Given the description of an element on the screen output the (x, y) to click on. 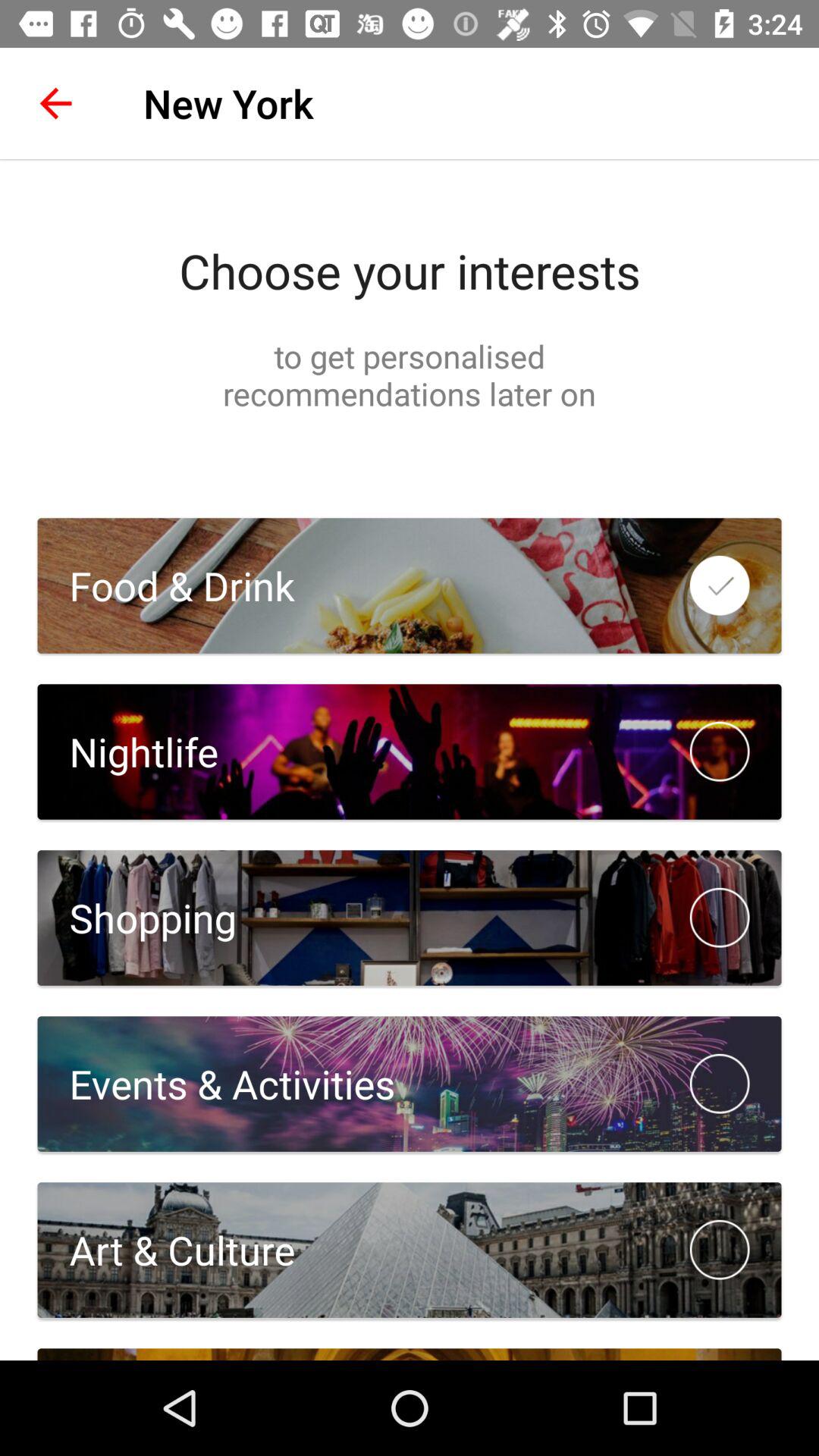
press the icon above to get personalised (409, 270)
